Given the description of an element on the screen output the (x, y) to click on. 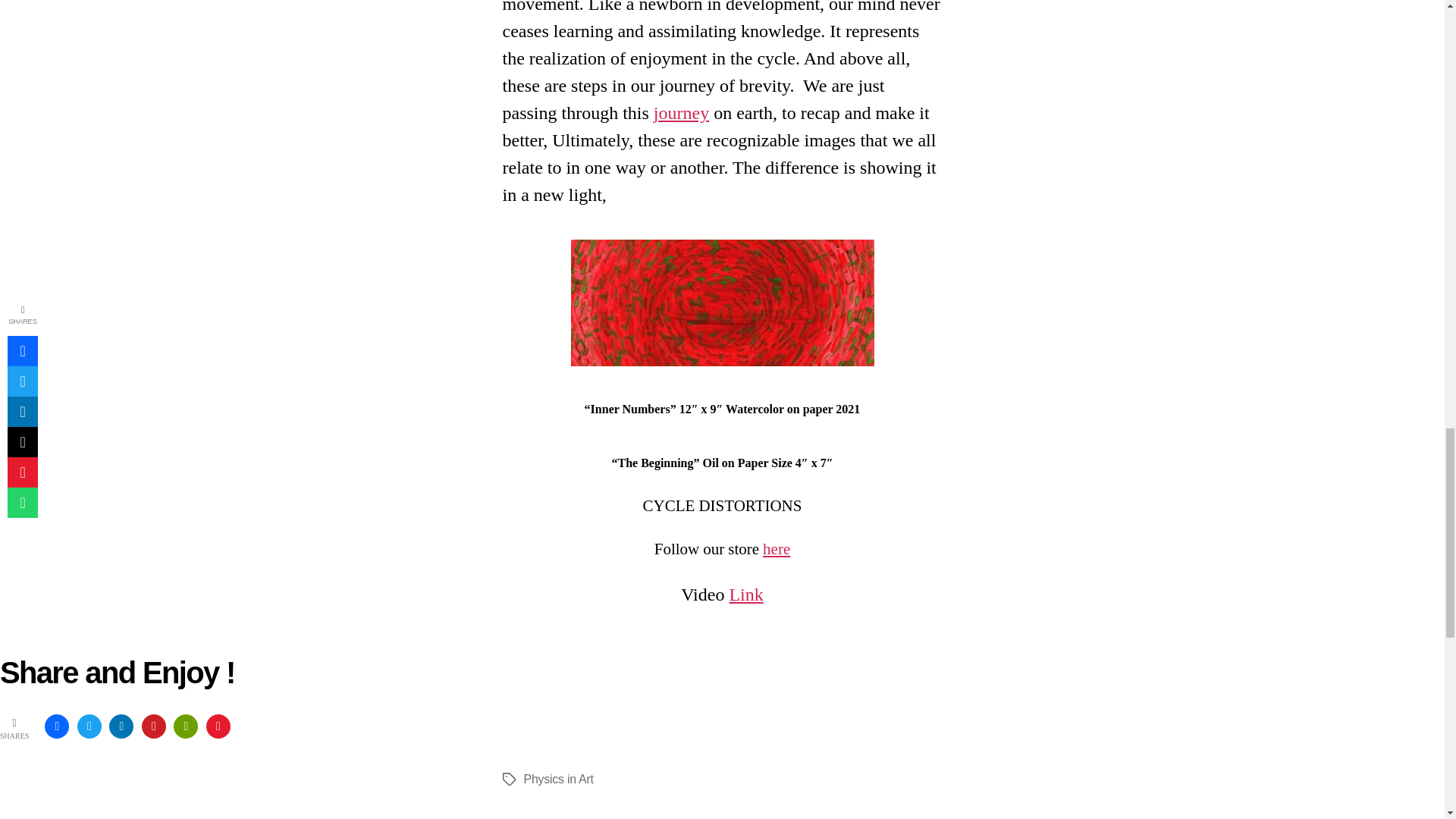
Tweet this ! (89, 726)
Convert to PDF (218, 726)
Cycle Distortions (721, 302)
Share this on Facebook (56, 726)
Submit this to Pinterest (153, 726)
Add this to LinkedIn (121, 726)
Print this article  (185, 726)
Link (745, 594)
Physics in Art (557, 779)
here (776, 548)
journey (681, 112)
